Given the description of an element on the screen output the (x, y) to click on. 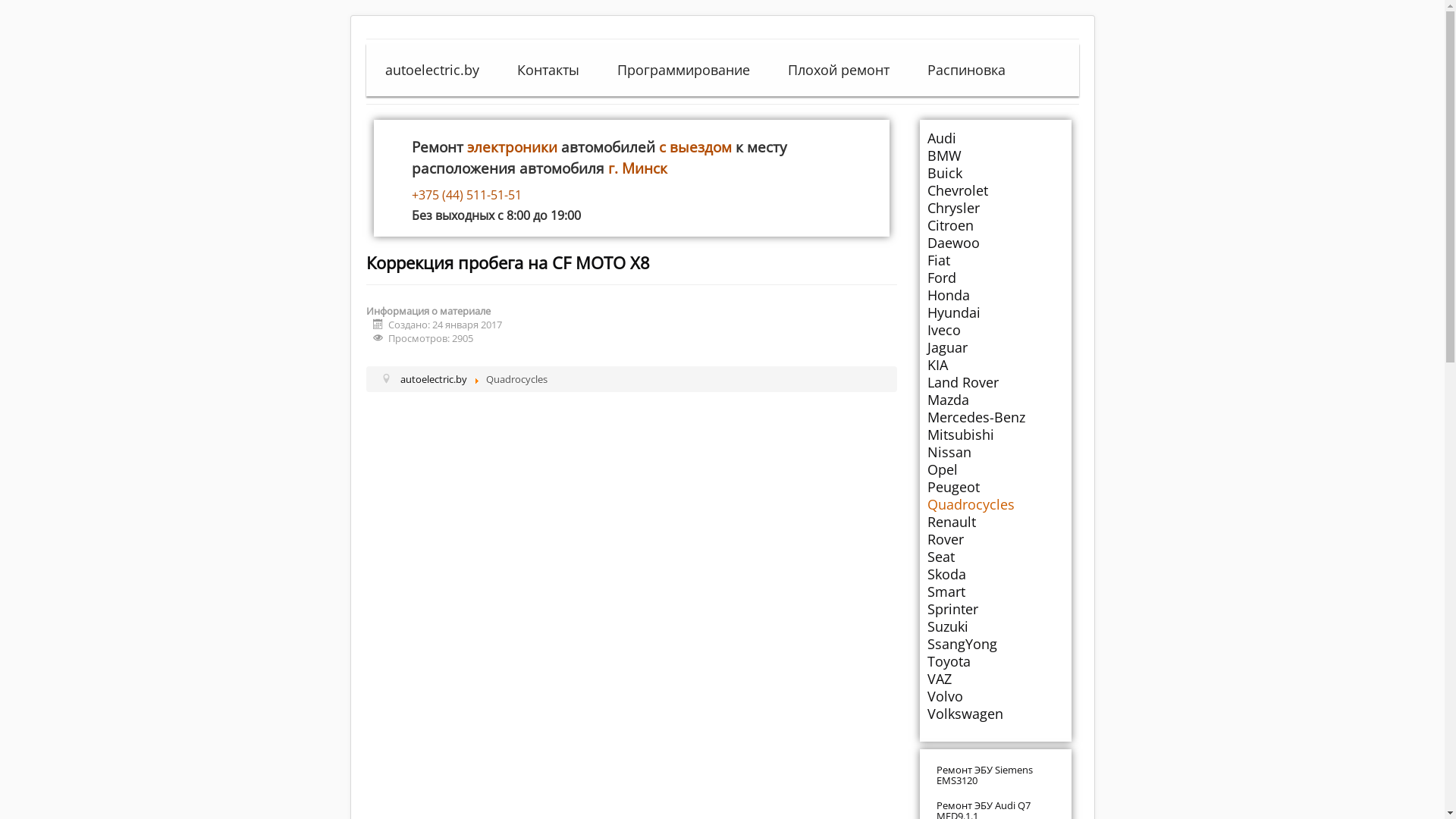
Sprinter Element type: text (994, 608)
Honda Element type: text (994, 294)
Volvo Element type: text (994, 695)
Hyundai Element type: text (994, 312)
VAZ Element type: text (994, 678)
SsangYong Element type: text (994, 643)
Toyota Element type: text (994, 661)
Rover Element type: text (994, 539)
Seat Element type: text (994, 556)
autoelectric.by Element type: text (433, 378)
Renault Element type: text (994, 521)
KIA Element type: text (994, 364)
Suzuki Element type: text (994, 626)
Opel Element type: text (994, 469)
Mazda Element type: text (994, 399)
Nissan Element type: text (994, 451)
Volkswagen Element type: text (994, 713)
Land Rover Element type: text (994, 382)
Chevrolet Element type: text (994, 190)
Peugeot Element type: text (994, 486)
Audi Element type: text (994, 137)
Jaguar Element type: text (994, 347)
Mercedes-Benz Element type: text (994, 416)
Fiat Element type: text (994, 259)
Skoda Element type: text (994, 573)
Mitsubishi Element type: text (994, 434)
Chrysler Element type: text (994, 207)
autoelectric.by Element type: text (432, 69)
Citroen Element type: text (994, 225)
Iveco Element type: text (994, 329)
Quadrocycles Element type: text (994, 504)
Buick Element type: text (994, 172)
Ford Element type: text (994, 277)
Smart Element type: text (994, 591)
+375 (44) 511-51-51 Element type: text (646, 194)
Daewoo Element type: text (994, 242)
BMW Element type: text (994, 155)
